Given the description of an element on the screen output the (x, y) to click on. 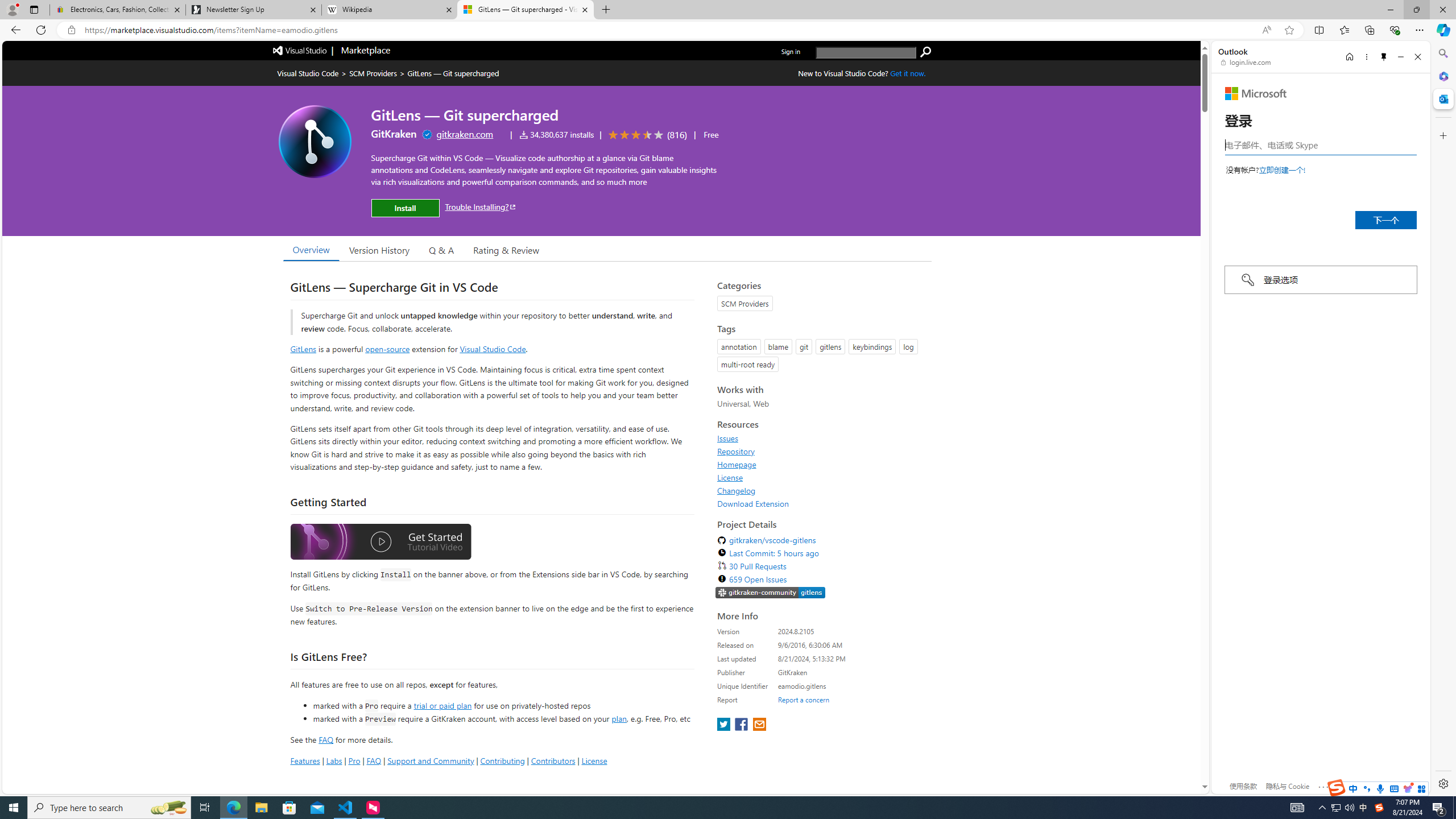
Issues (820, 437)
login.live.com (1246, 61)
Download Extension (820, 503)
Pro (354, 760)
Watch the GitLens Getting Started video (380, 542)
SCM Providers (373, 72)
More options (1366, 56)
Sign in (790, 50)
Overview (310, 249)
Homepage (820, 464)
Changelog (820, 490)
